Given the description of an element on the screen output the (x, y) to click on. 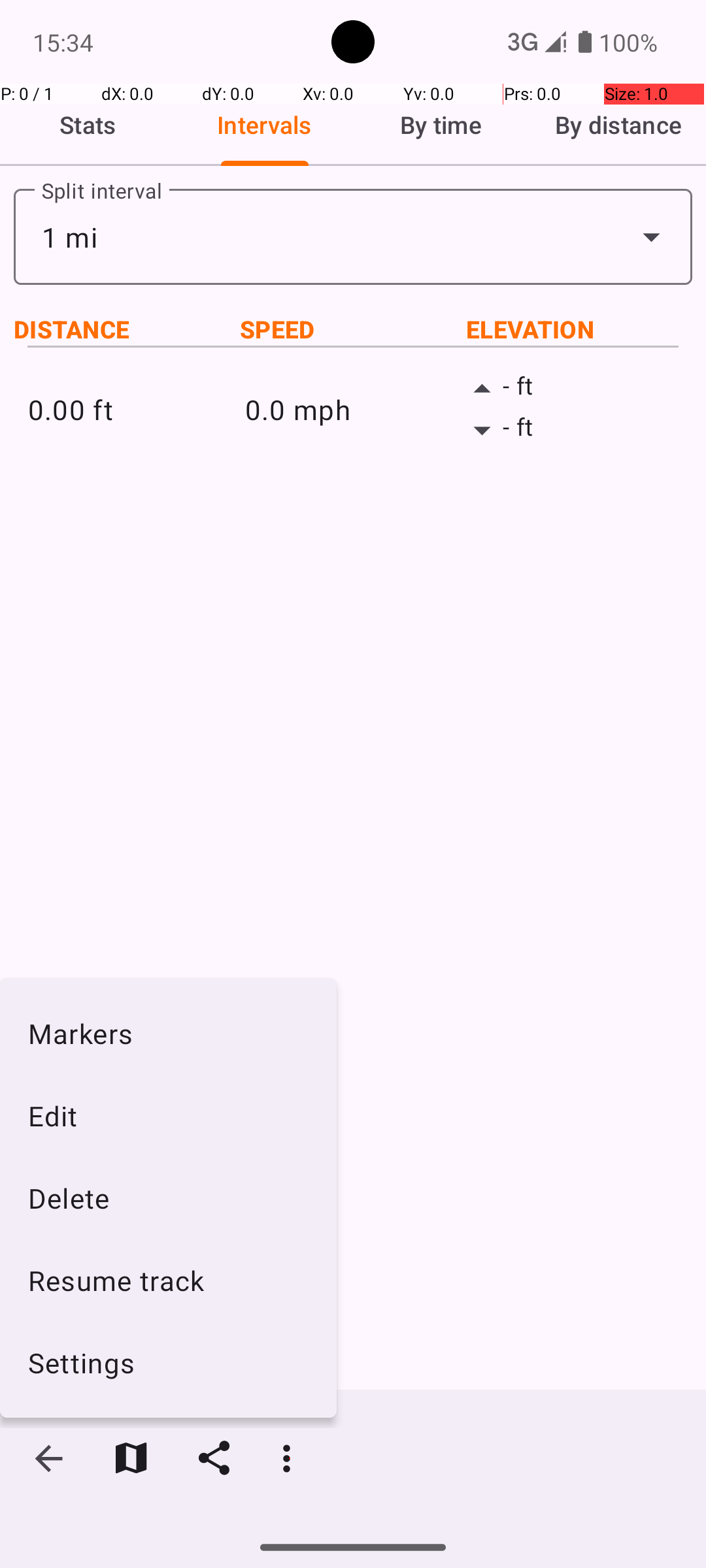
Resume track Element type: android.widget.TextView (168, 1279)
